Given the description of an element on the screen output the (x, y) to click on. 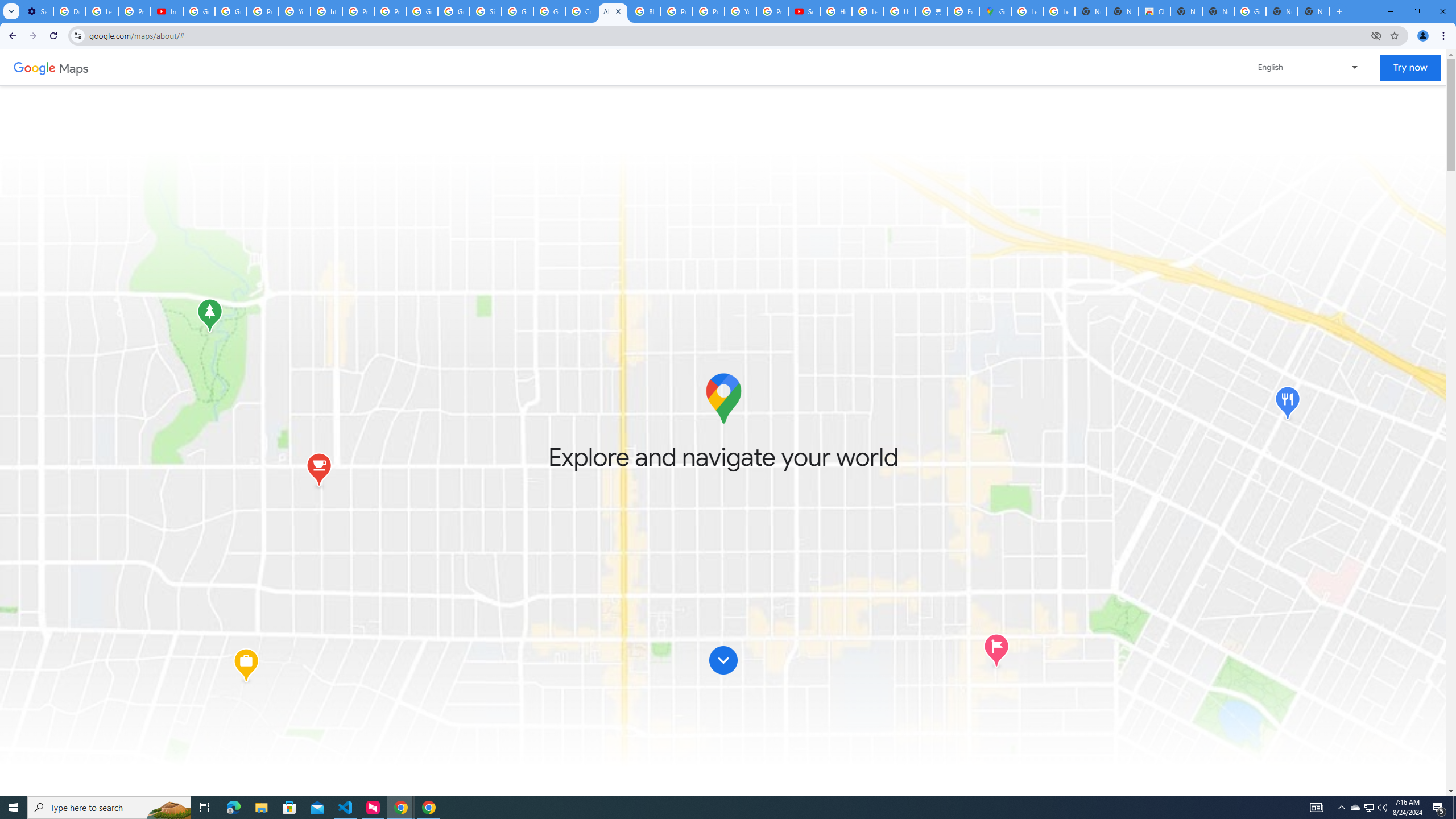
Privacy Help Center - Policies Help (708, 11)
Settings - Customize profile (37, 11)
Google Account Help (198, 11)
YouTube (740, 11)
